Given the description of an element on the screen output the (x, y) to click on. 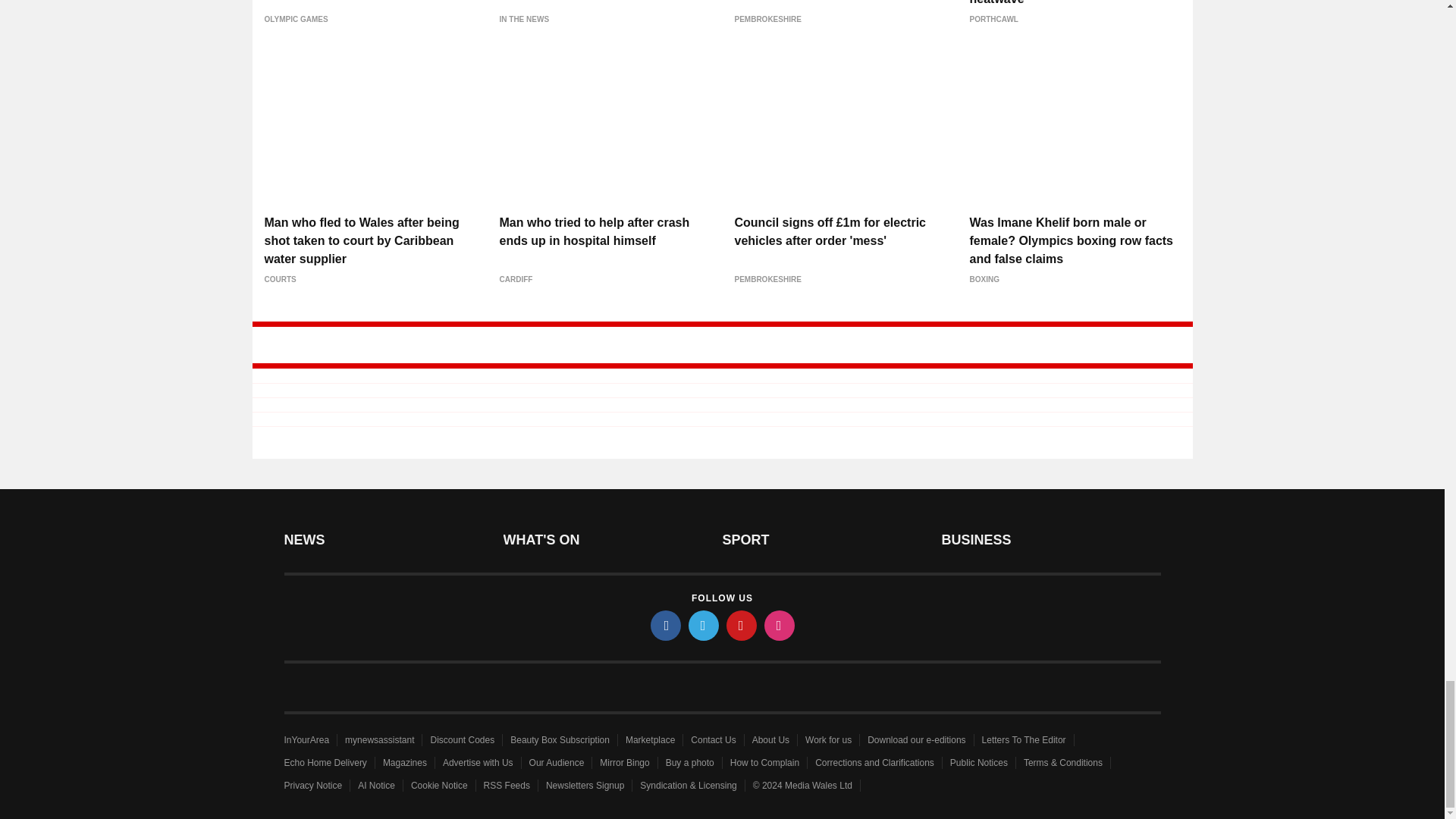
facebook (665, 625)
pinterest (741, 625)
instagram (779, 625)
twitter (703, 625)
